Given the description of an element on the screen output the (x, y) to click on. 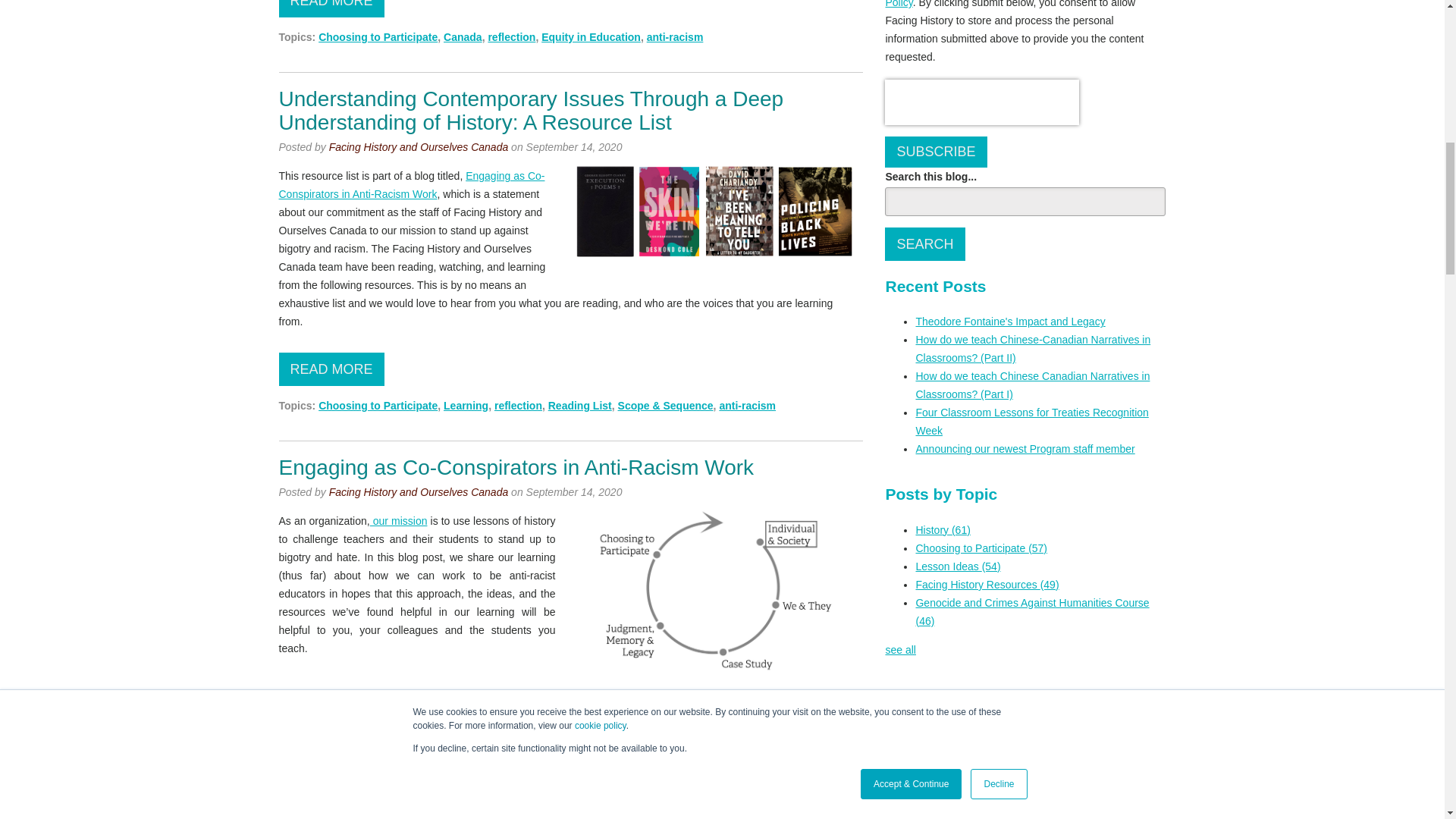
READ MORE (331, 8)
Facing History and Ourselves Canada (418, 146)
Choosing to Participate (378, 405)
READ MORE (331, 735)
anti-racism (576, 771)
Equity in Education (493, 771)
Equity in Education (590, 37)
Facing History and Ourselves Canada (418, 491)
our mission (398, 521)
reCAPTCHA (981, 102)
anti-racism (747, 405)
Engaging as Co-Conspirators in Anti-Racism Work (411, 184)
Canada (462, 37)
Learning (465, 405)
reflection (518, 405)
